Given the description of an element on the screen output the (x, y) to click on. 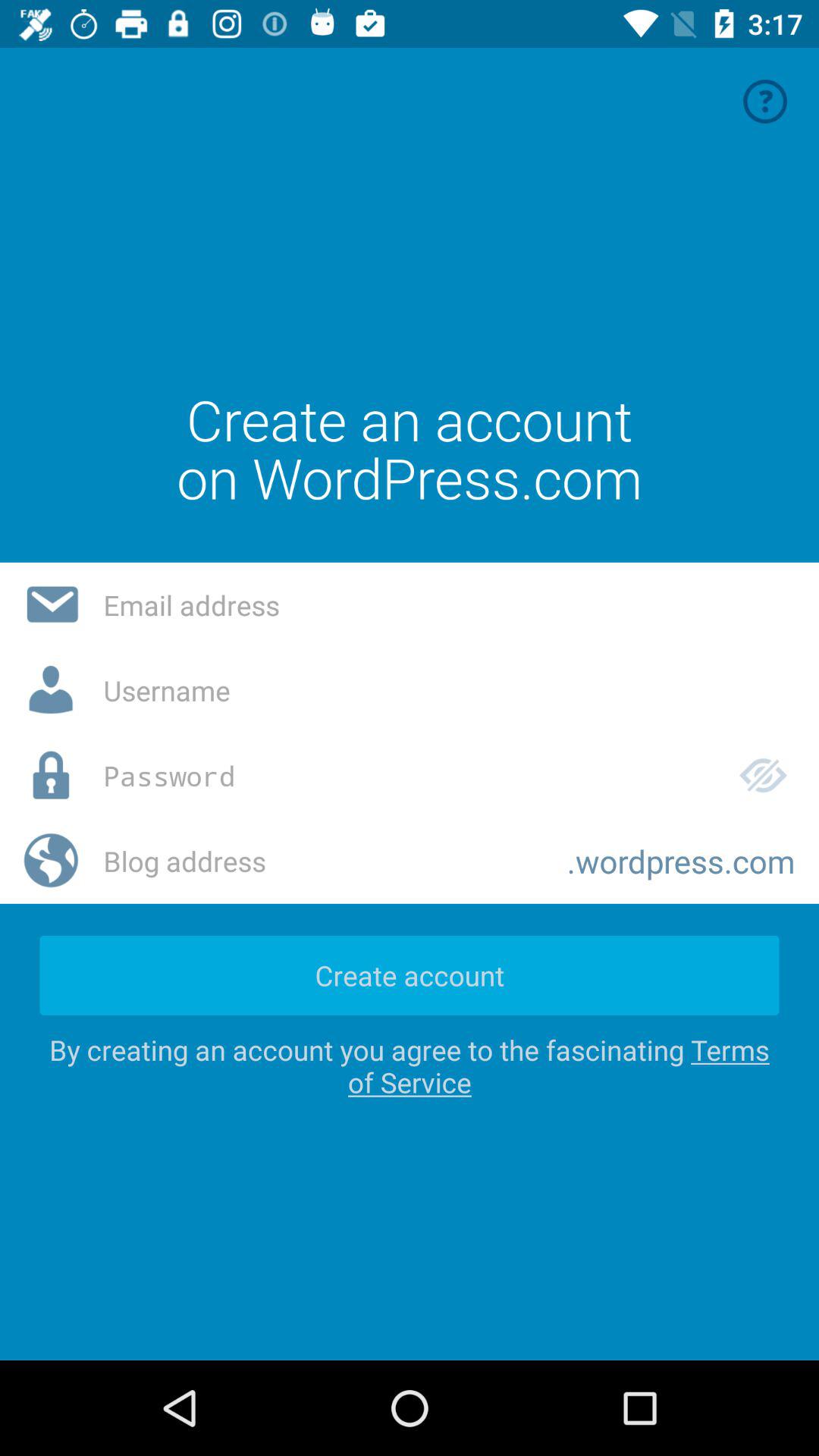
turn on the icon to the left of the .wordpress.com (323, 860)
